Given the description of an element on the screen output the (x, y) to click on. 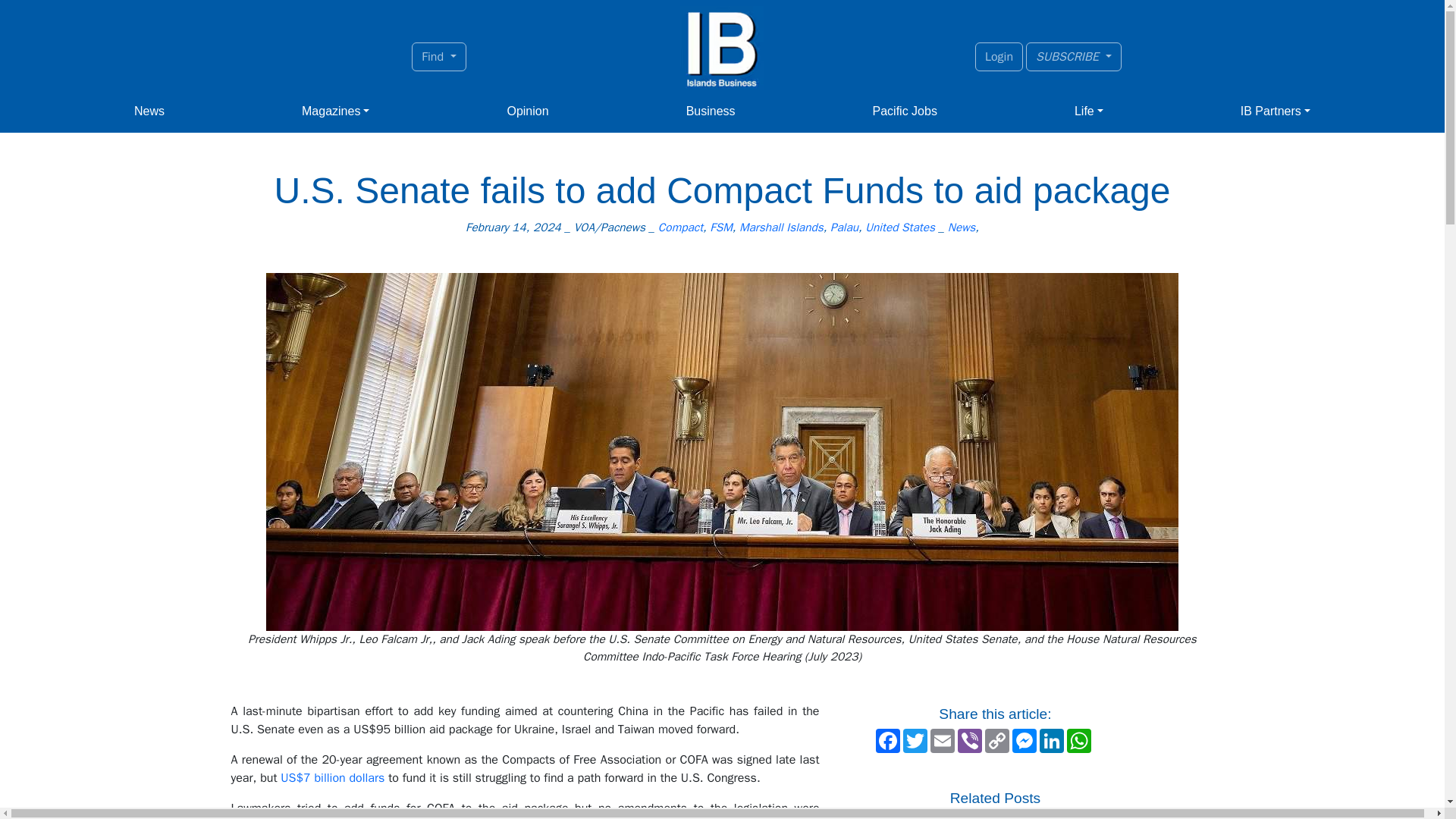
Login (999, 56)
Life (1088, 111)
Magazines (335, 111)
Business (710, 111)
Opinion (527, 111)
Pacific Jobs (904, 111)
Find (438, 56)
News (149, 111)
SUBSCRIBE (1073, 56)
Login (999, 56)
